Given the description of an element on the screen output the (x, y) to click on. 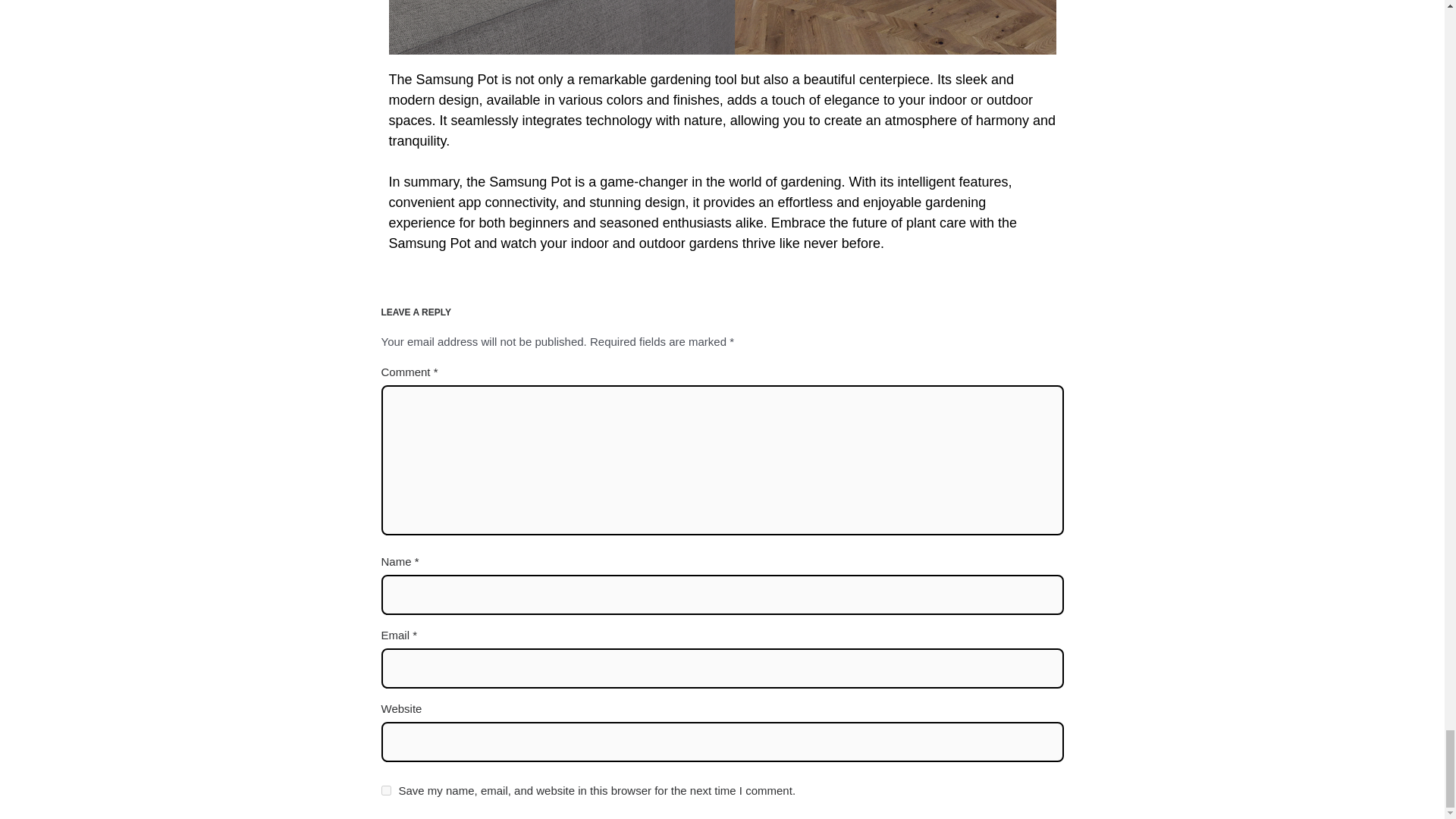
yes (385, 790)
